Given the description of an element on the screen output the (x, y) to click on. 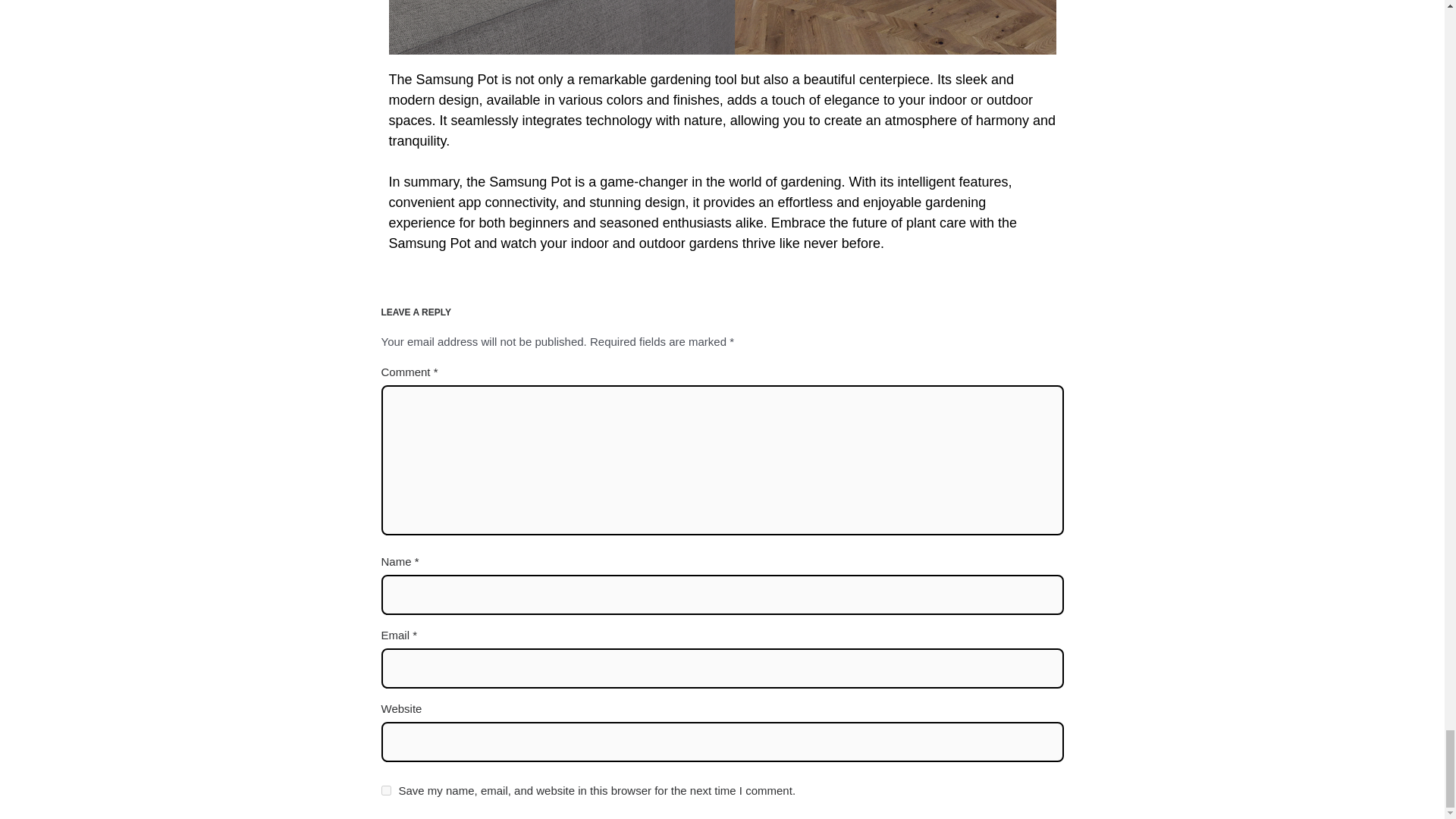
yes (385, 790)
